Given the description of an element on the screen output the (x, y) to click on. 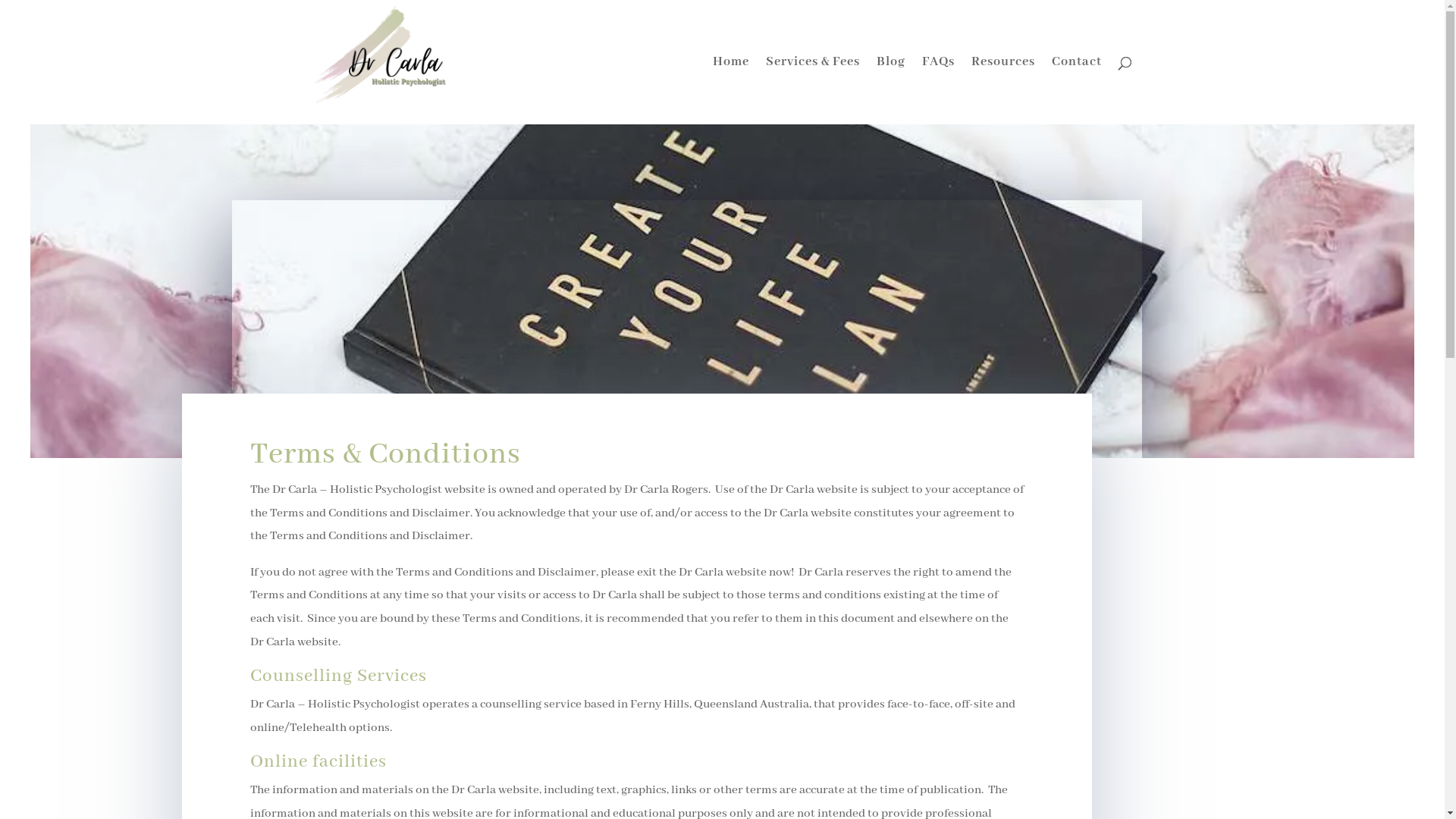
Blog Element type: text (890, 90)
Contact Element type: text (1076, 90)
Home Element type: text (730, 90)
FAQs Element type: text (938, 90)
Services & Fees Element type: text (812, 90)
Resources Element type: text (1002, 90)
